Given the description of an element on the screen output the (x, y) to click on. 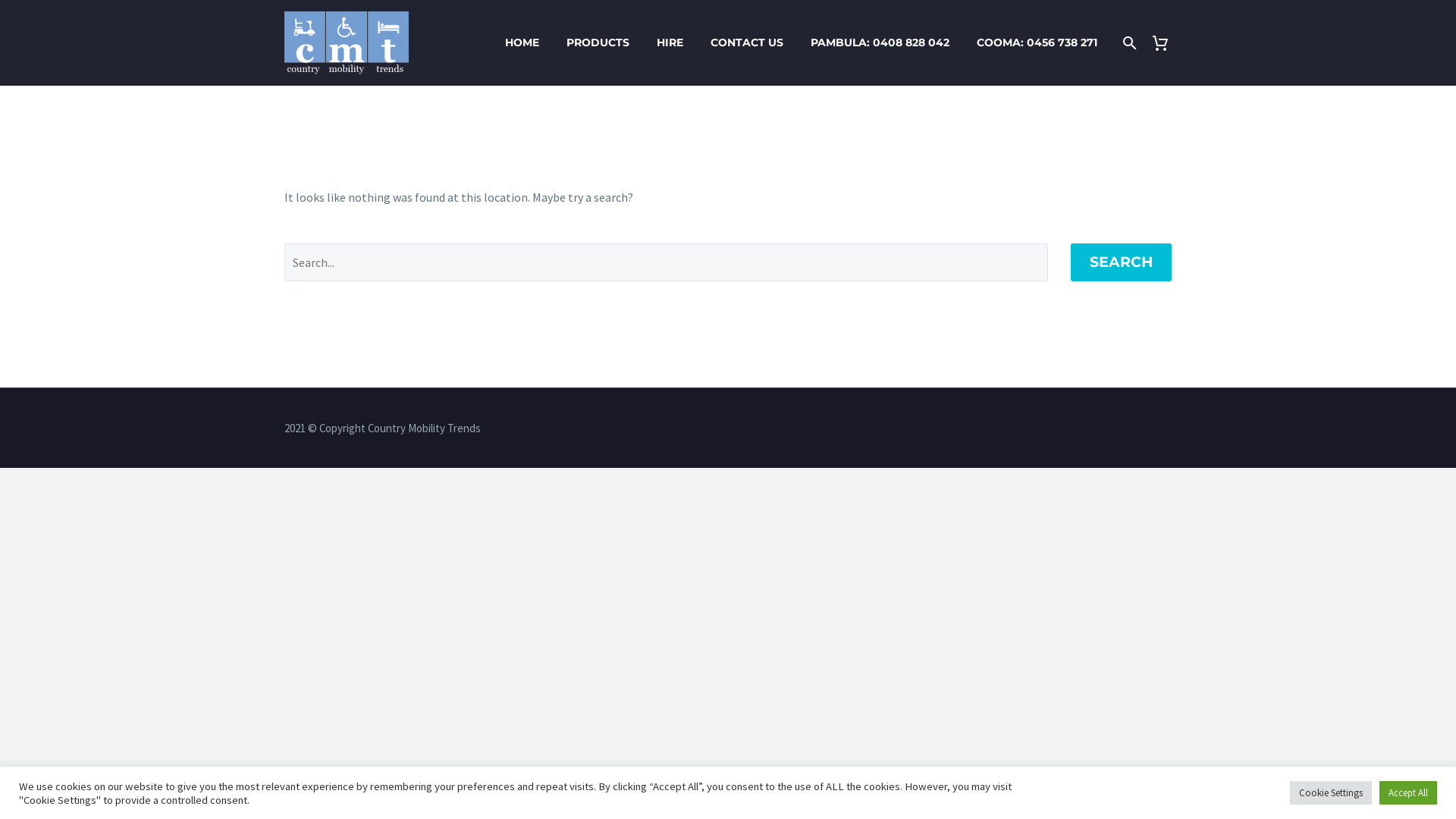
Accept All Element type: text (1408, 792)
PRODUCTS Element type: text (597, 42)
PAMBULA: 0408 828 042 Element type: text (879, 42)
SEARCH Element type: text (1120, 262)
COOMA: 0456 738 271 Element type: text (1036, 42)
HIRE Element type: text (669, 42)
HOME Element type: text (521, 42)
CONTACT US Element type: text (746, 42)
Cookie Settings Element type: text (1330, 792)
